Given the description of an element on the screen output the (x, y) to click on. 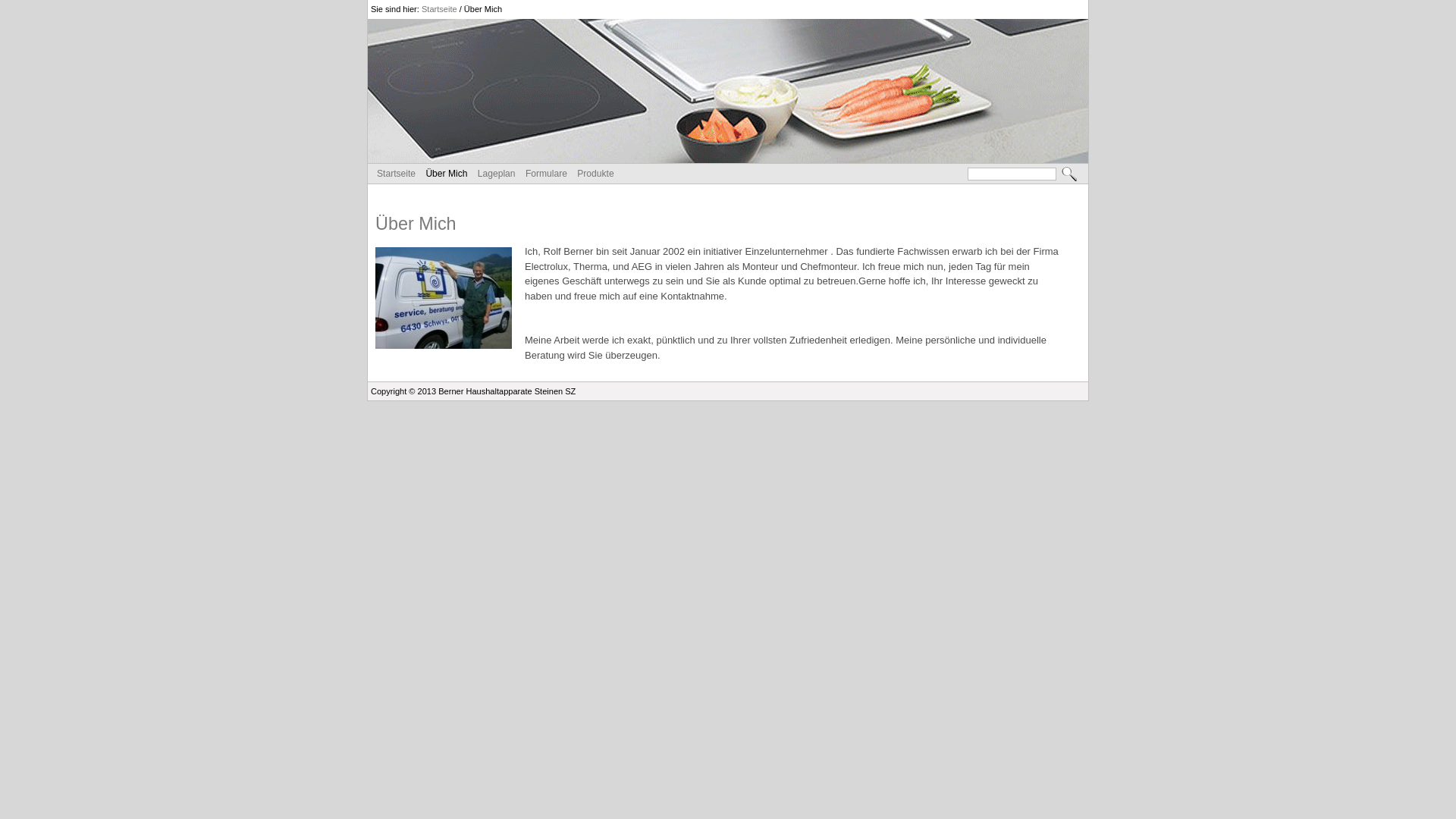
Berner_logo1.jpg Element type: hover (727, 90)
Startseite Element type: text (439, 8)
Lageplan Element type: text (496, 173)
Startseite Element type: text (395, 173)
_typo3temp_pics_2248a03f09.jpg Element type: hover (443, 298)
Formulare Element type: text (546, 173)
Produkte Element type: text (595, 173)
